Given the description of an element on the screen output the (x, y) to click on. 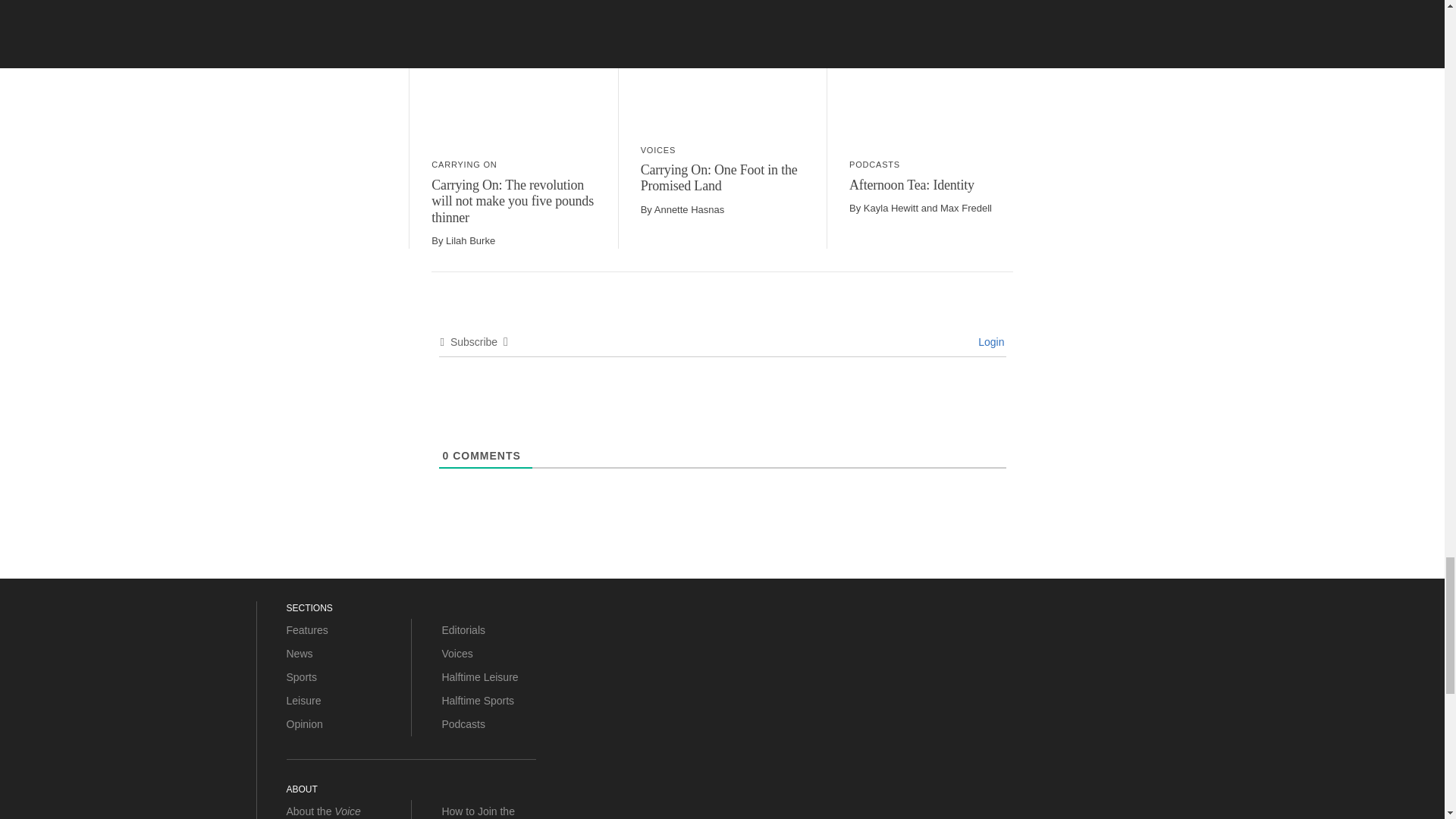
Posts by Kayla Hewitt (890, 207)
Posts by Max Fredell (965, 207)
Posts by Lilah Burke (470, 240)
Posts by Annette Hasnas (689, 209)
